Given the description of an element on the screen output the (x, y) to click on. 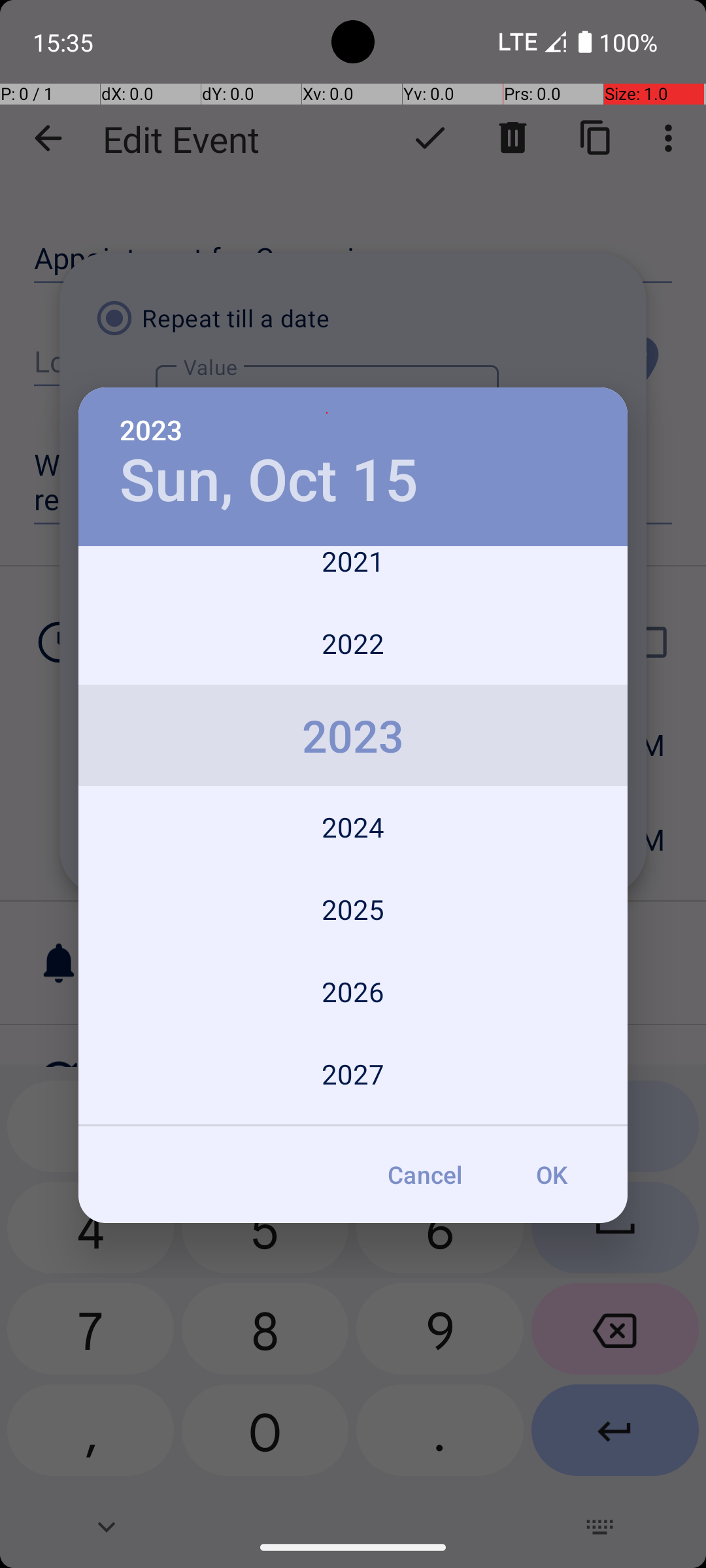
2027 Element type: android.widget.TextView (352, 1073)
2028 Element type: android.widget.TextView (352, 1120)
